Given the description of an element on the screen output the (x, y) to click on. 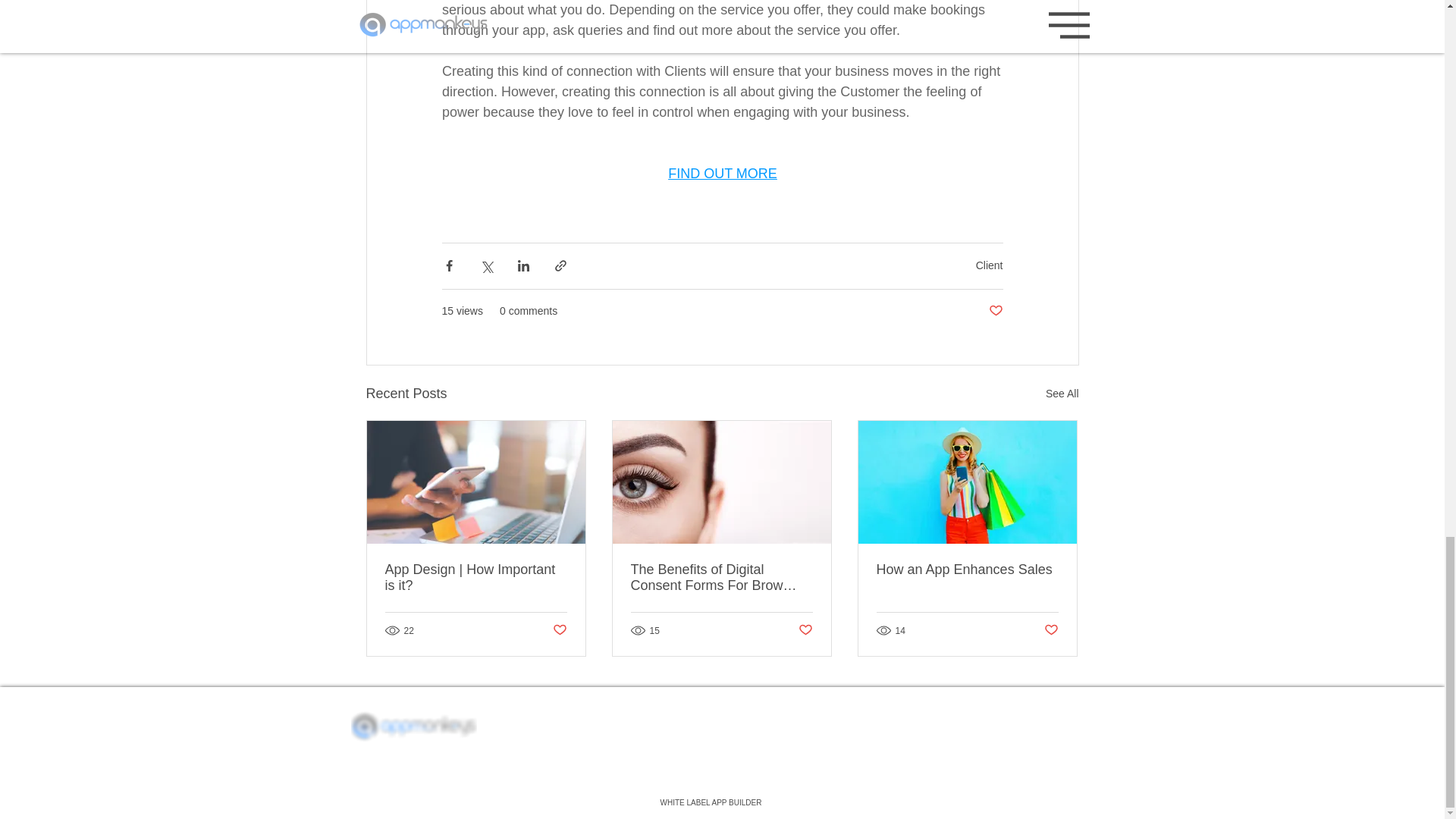
Post not marked as liked (1050, 630)
See All (1061, 393)
Post not marked as liked (995, 311)
Post not marked as liked (558, 630)
Client (989, 265)
The Benefits of Digital Consent Forms For Brow Bars (721, 577)
Post not marked as liked (804, 630)
WHITE LABEL APP BUILDER (711, 802)
appmonkeys1-1.png (413, 725)
How an App Enhances Sales (967, 569)
